Given the description of an element on the screen output the (x, y) to click on. 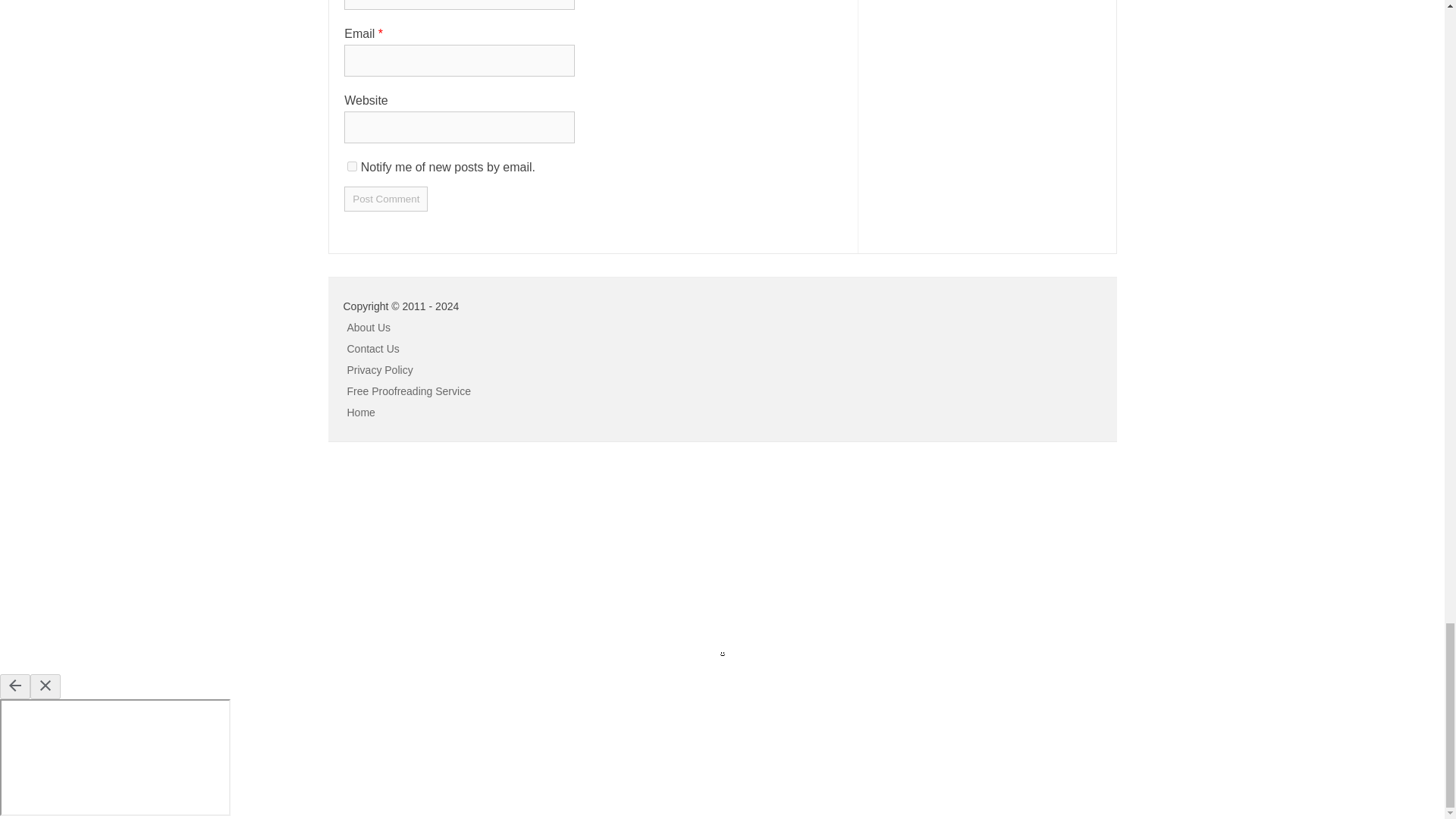
subscribe (351, 166)
Post Comment (385, 198)
Free Proofreading Service (408, 390)
Home (361, 412)
Post Comment (385, 198)
About Us (369, 327)
Contact Us (372, 348)
Advertisement (113, 554)
Privacy Policy (380, 369)
